Given the description of an element on the screen output the (x, y) to click on. 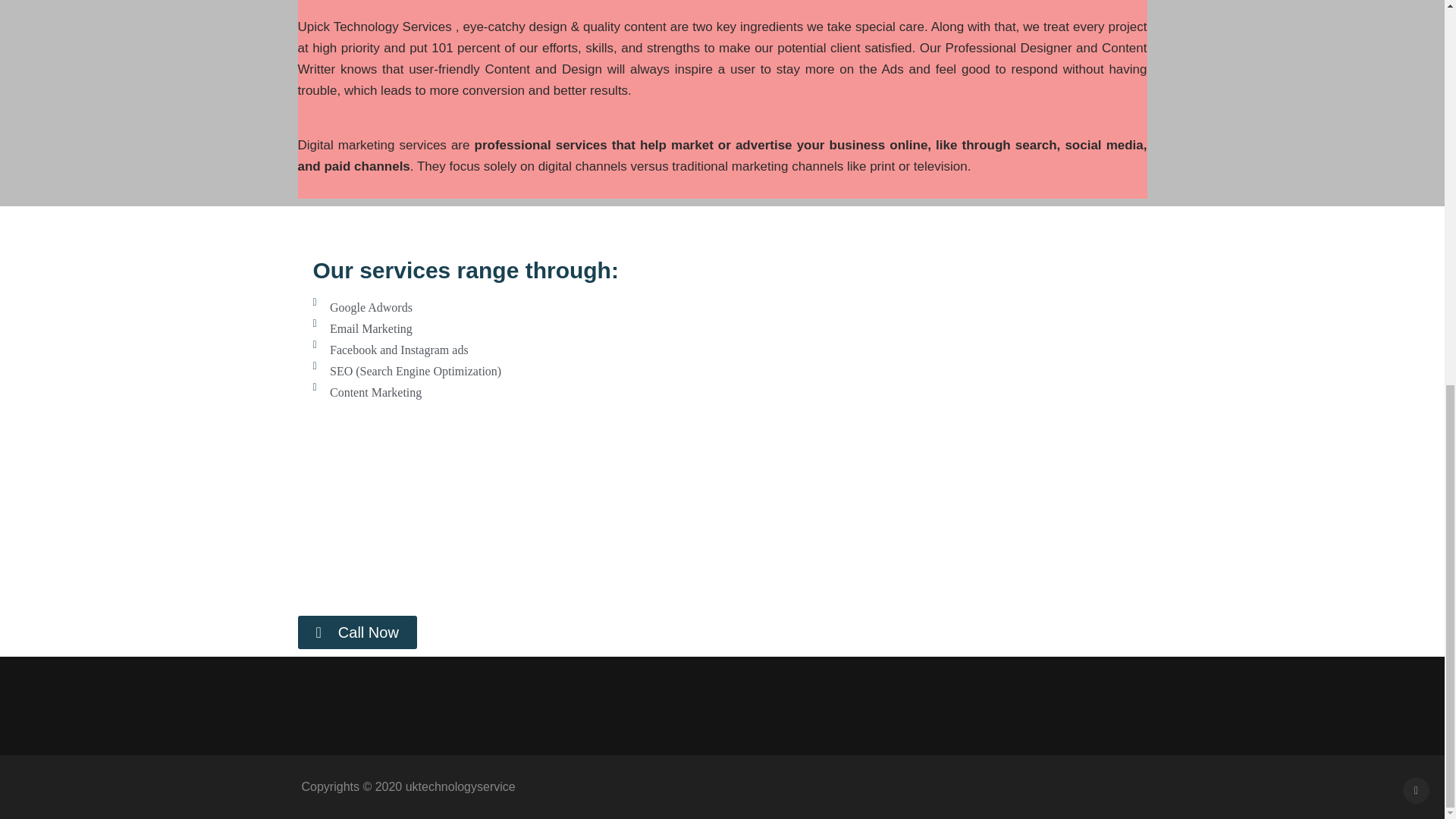
Back to Top (1416, 64)
Call Now (356, 632)
